Given the description of an element on the screen output the (x, y) to click on. 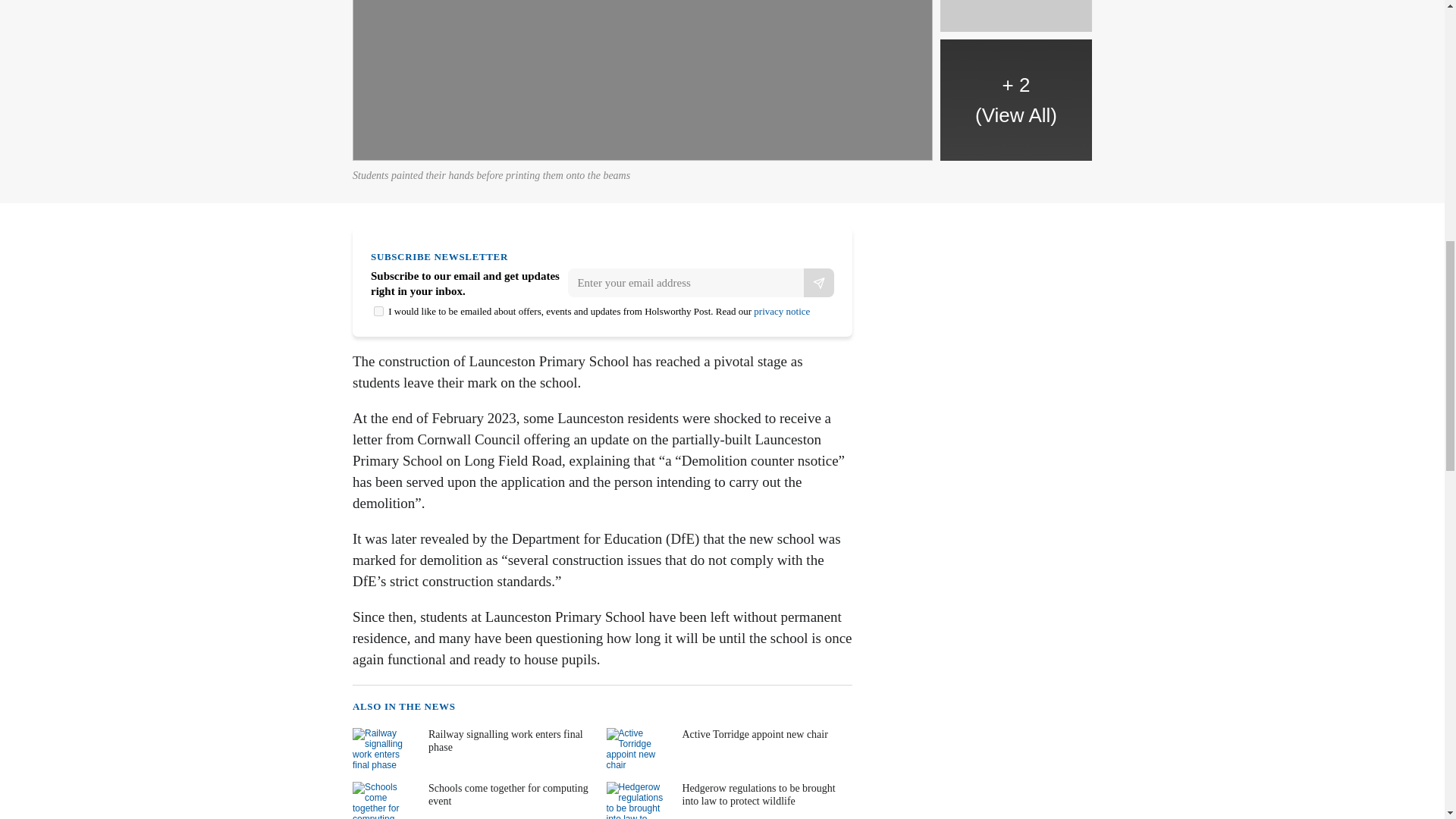
Schools come together for computing event (473, 800)
on (379, 311)
Railway signalling work enters final phase (473, 752)
Active Torridge appoint new chair (727, 752)
privacy notice (781, 310)
